Given the description of an element on the screen output the (x, y) to click on. 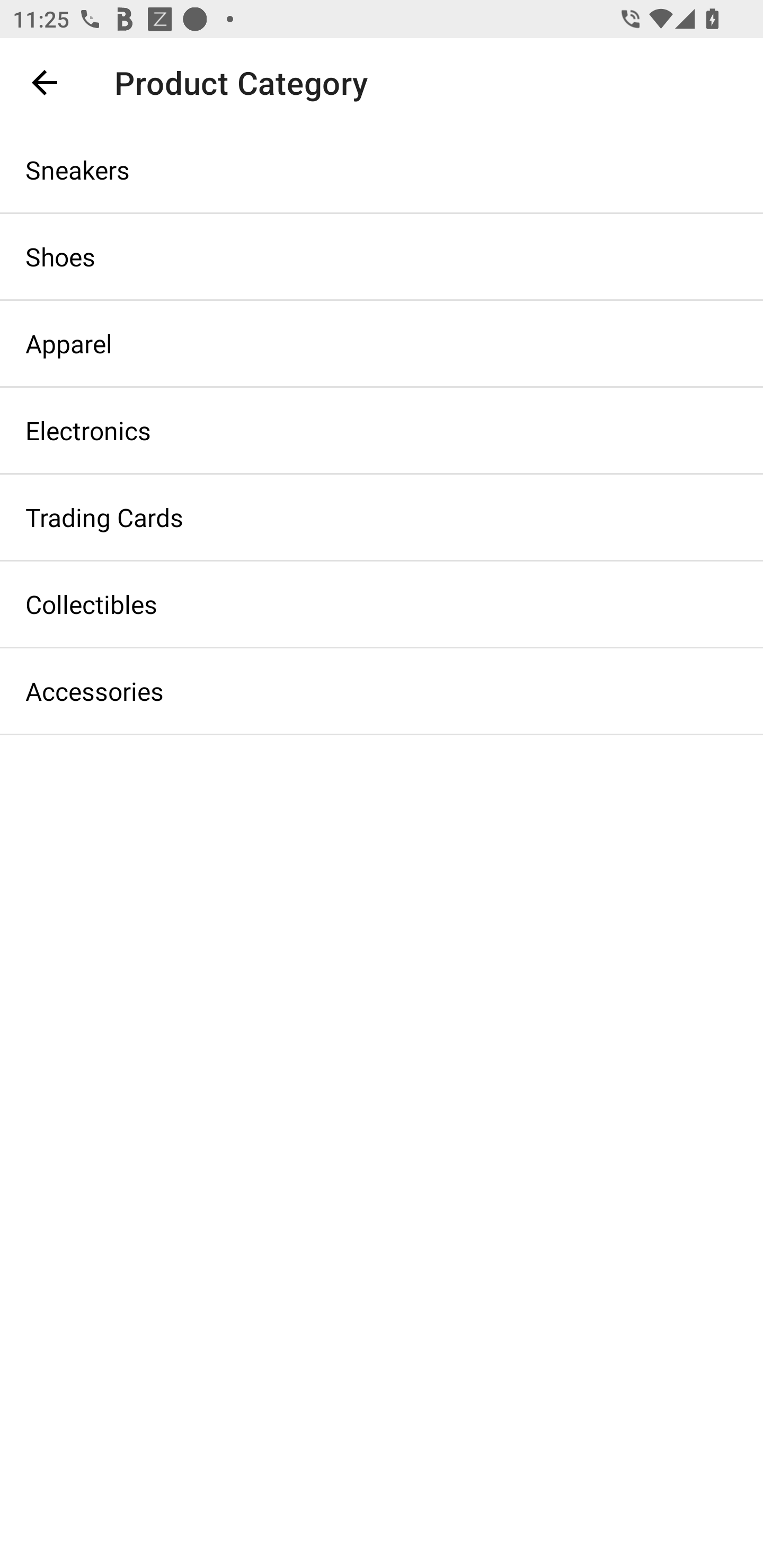
flats (370, 82)
Sneakers (381, 169)
Shoes (381, 256)
Apparel (381, 343)
Electronics (381, 430)
Trading Cards (381, 517)
Collectibles (381, 603)
Accessories (381, 691)
